Given the description of an element on the screen output the (x, y) to click on. 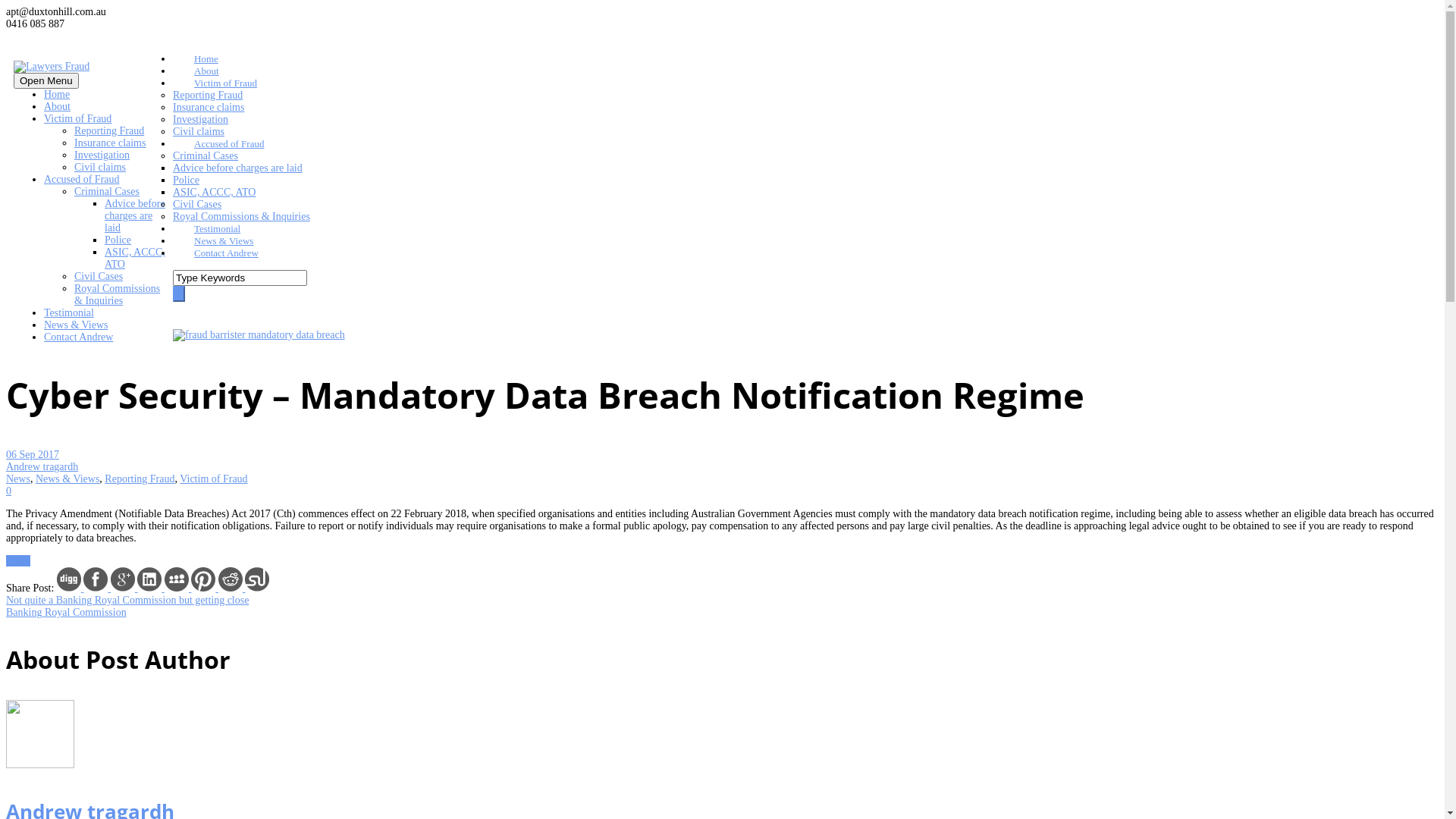
Investigation Element type: text (101, 154)
Contact Andrew Element type: text (77, 336)
News & Views Element type: text (212, 252)
Insurance claims Element type: text (208, 106)
Contact Andrew Element type: text (215, 264)
About Element type: text (56, 106)
Victim of Fraud Element type: text (214, 94)
Investigation Element type: text (200, 119)
Testimonial Element type: text (206, 239)
Testimonial Element type: text (68, 312)
Civil Cases Element type: text (98, 276)
Advice before charges are laid Element type: text (134, 215)
Victim of Fraud Element type: text (213, 478)
Accused of Fraud Element type: text (81, 179)
Civil claims Element type: text (198, 131)
Criminal Cases Element type: text (106, 191)
Victim of Fraud Element type: text (77, 118)
News & Views Element type: text (67, 478)
Banking Royal Commission Element type: text (66, 612)
News & Views Element type: text (75, 324)
0 Element type: text (8, 490)
Civil claims Element type: text (99, 166)
06 Sep 2017 Element type: text (32, 454)
Advice before charges are laid Element type: text (237, 167)
Civil Cases Element type: text (196, 204)
News Element type: text (18, 560)
Andrew tragardh Element type: text (42, 466)
Not quite a Banking Royal Commission but getting close Element type: text (127, 599)
Home Element type: text (195, 70)
ASIC, ACCC, ATO Element type: text (134, 257)
Open Menu Element type: text (45, 80)
News Element type: text (18, 478)
Royal Commissions & Inquiries Element type: text (117, 294)
Accused of Fraud Element type: text (217, 155)
Police Element type: text (185, 179)
Reporting Fraud Element type: text (139, 478)
Insurance claims Element type: text (109, 142)
Police Element type: text (117, 239)
Royal Commissions & Inquiries Element type: text (241, 216)
ASIC, ACCC, ATO Element type: text (213, 191)
Home Element type: text (56, 94)
Reporting Fraud Element type: text (207, 94)
Reporting Fraud Element type: text (109, 130)
About Element type: text (195, 82)
Criminal Cases Element type: text (205, 155)
